Given the description of an element on the screen output the (x, y) to click on. 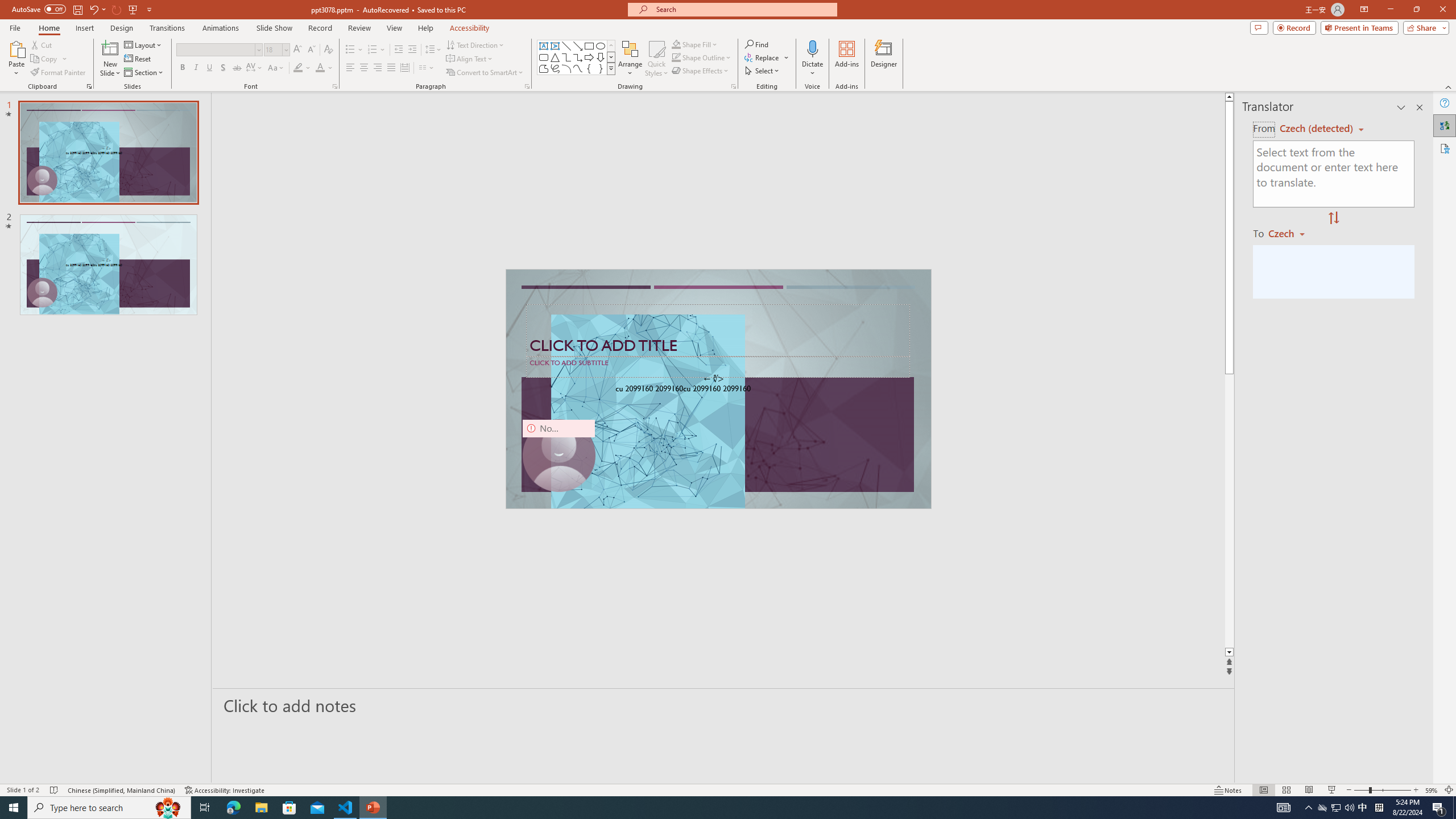
TextBox 7 (713, 378)
Shape Outline Green, Accent 1 (675, 56)
